Given the description of an element on the screen output the (x, y) to click on. 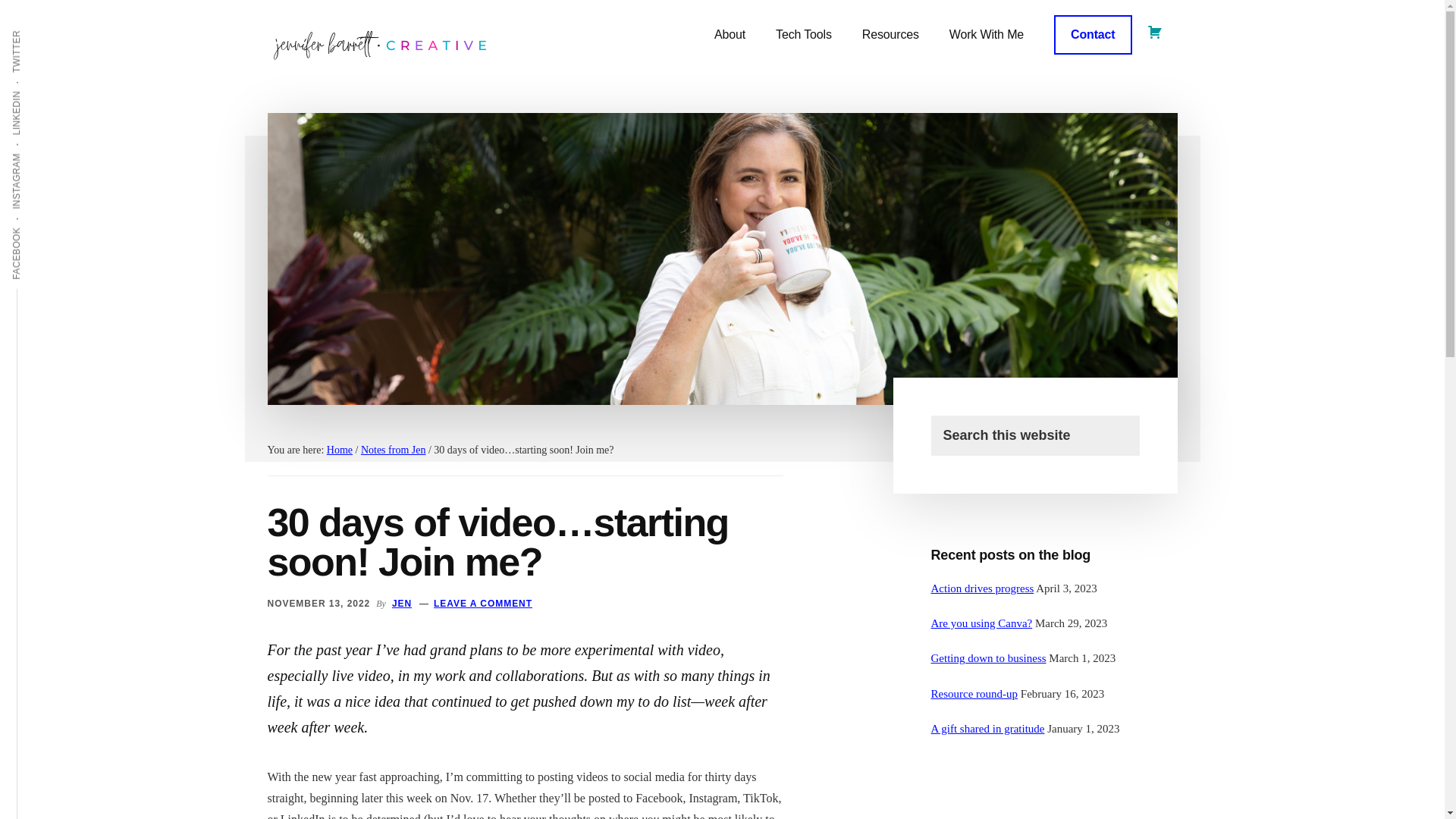
About (729, 34)
FACEBOOK (44, 226)
LEAVE A COMMENT (482, 602)
Notes from Jen (393, 449)
Contact (1092, 34)
Home (339, 449)
TWITTER (38, 28)
Tech Tools (803, 34)
Work With Me (986, 34)
JEN (401, 602)
LINKEDIN (39, 89)
